Given the description of an element on the screen output the (x, y) to click on. 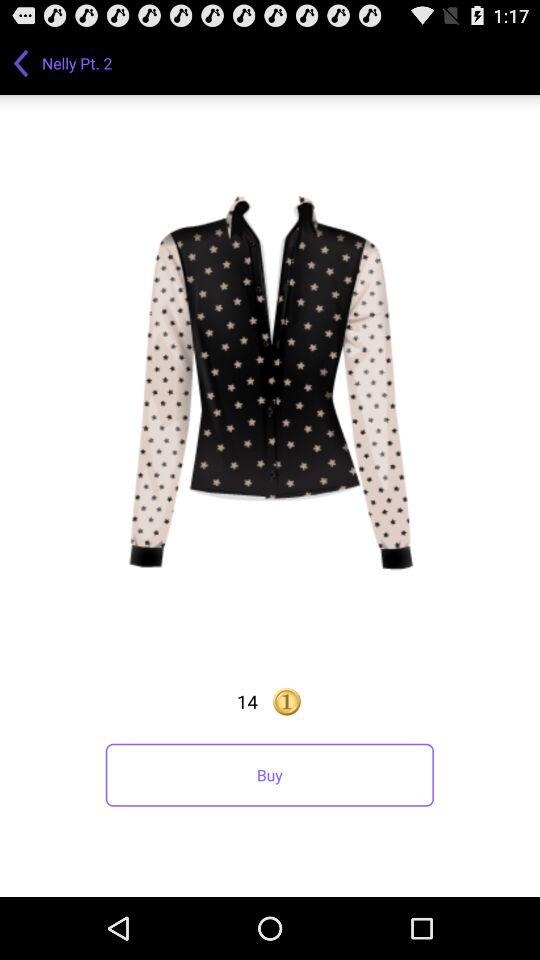
go back (21, 63)
